Given the description of an element on the screen output the (x, y) to click on. 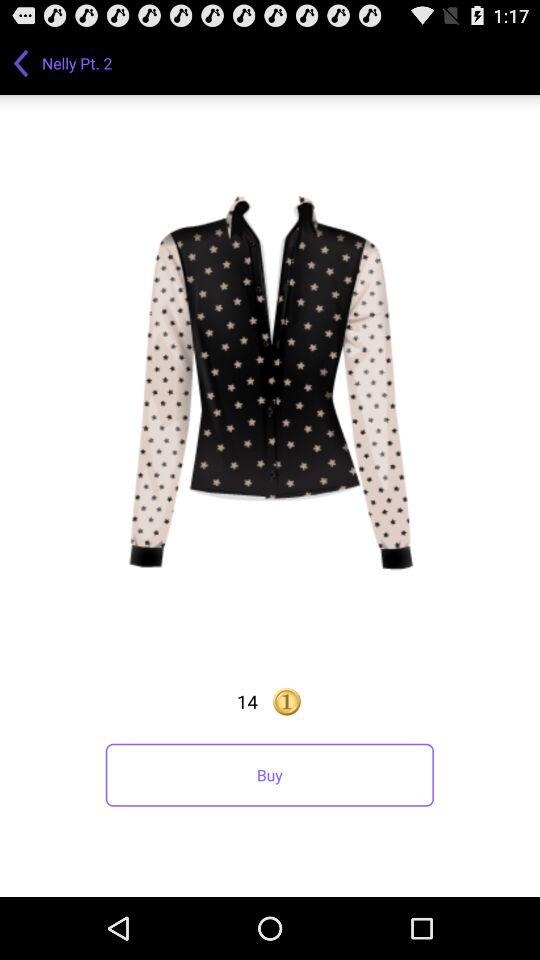
go back (21, 63)
